Given the description of an element on the screen output the (x, y) to click on. 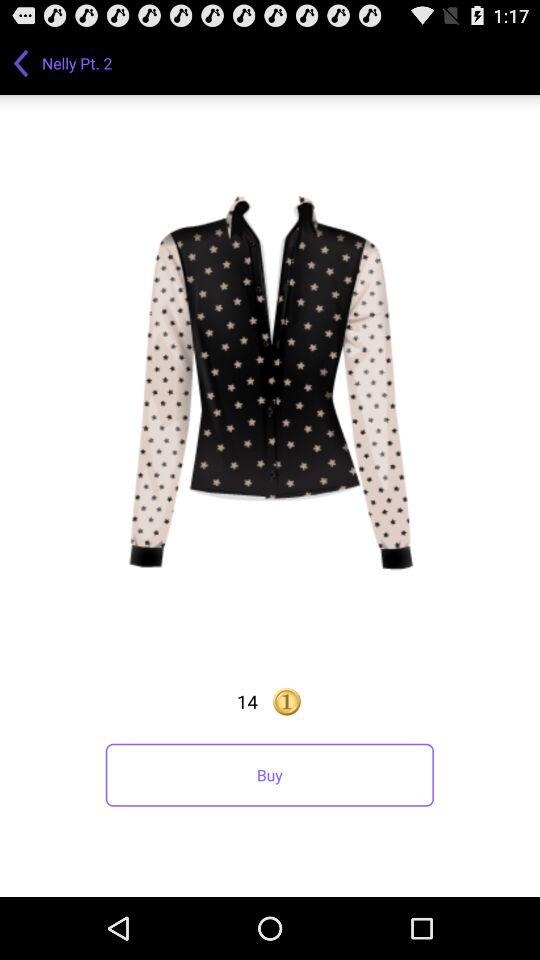
go back (21, 63)
